Given the description of an element on the screen output the (x, y) to click on. 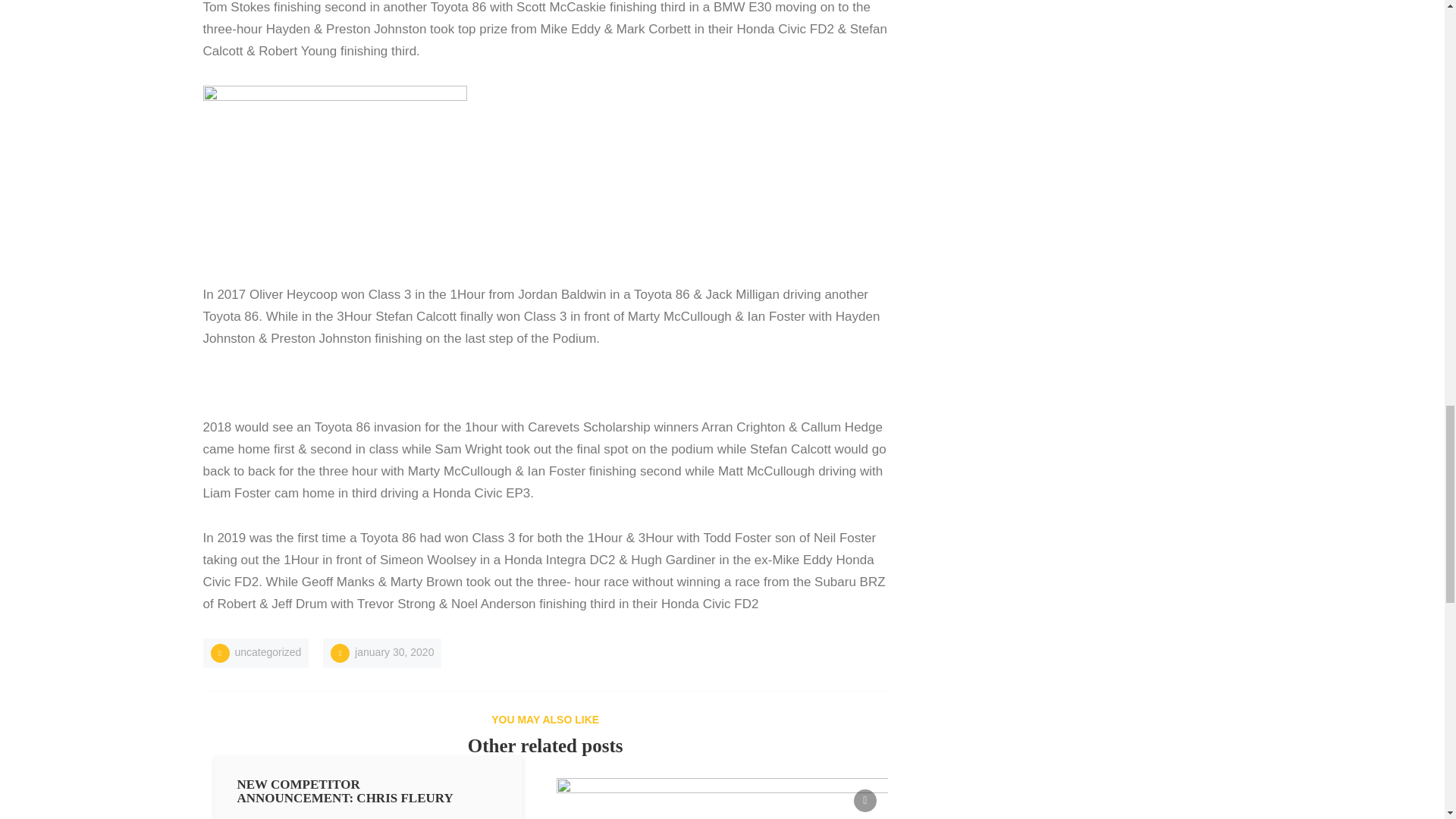
Shane Drake returns to racing with endurance drive (367, 798)
uncategorized (722, 798)
